Given the description of an element on the screen output the (x, y) to click on. 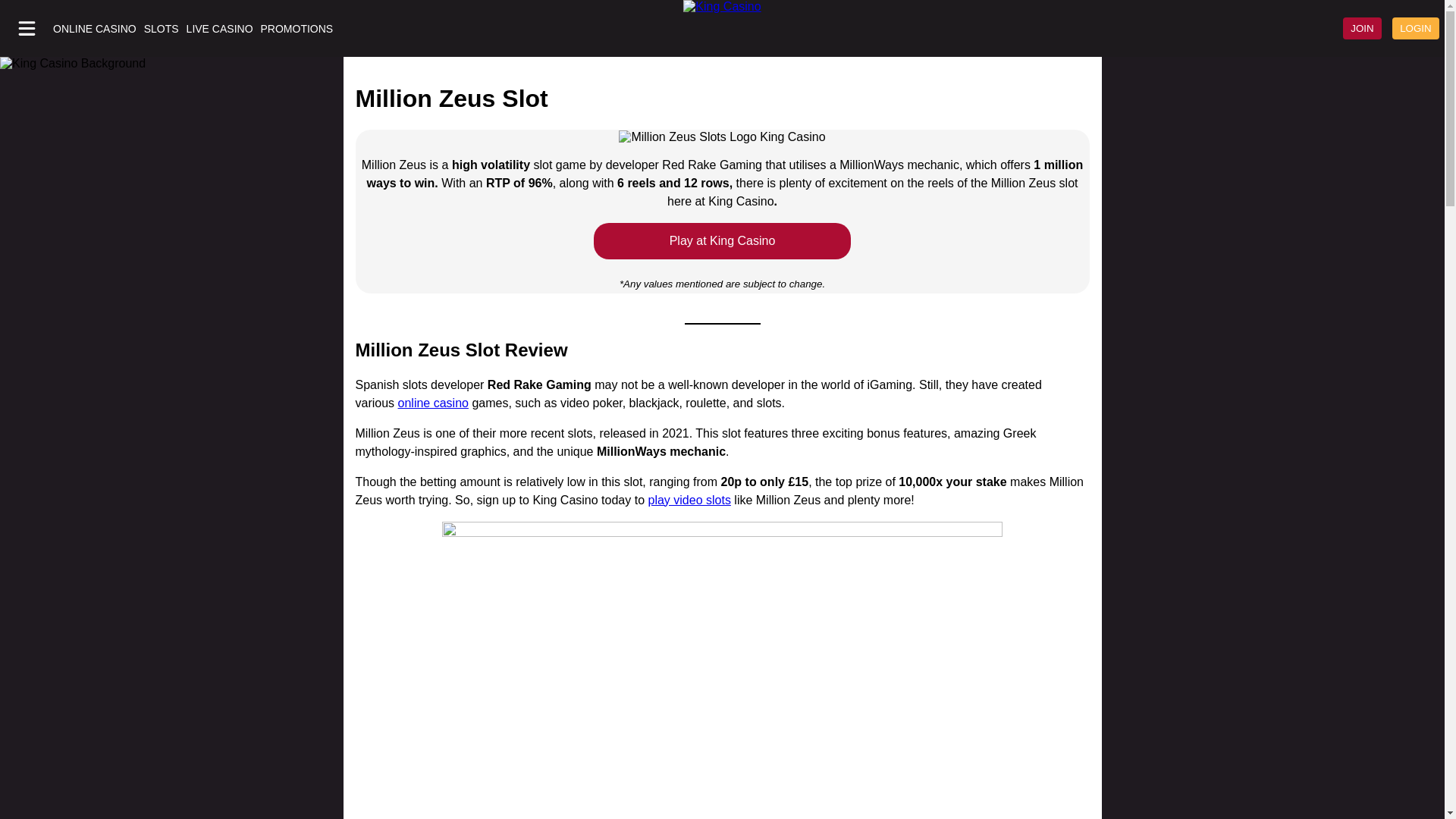
JOIN (1361, 27)
SLOTS (161, 28)
play video slots (688, 499)
Play at King Casino (722, 240)
PROMOTIONS (296, 28)
LOGIN (1415, 27)
ONLINE CASINO (94, 28)
LIVE CASINO (219, 28)
online casino (432, 402)
